Given the description of an element on the screen output the (x, y) to click on. 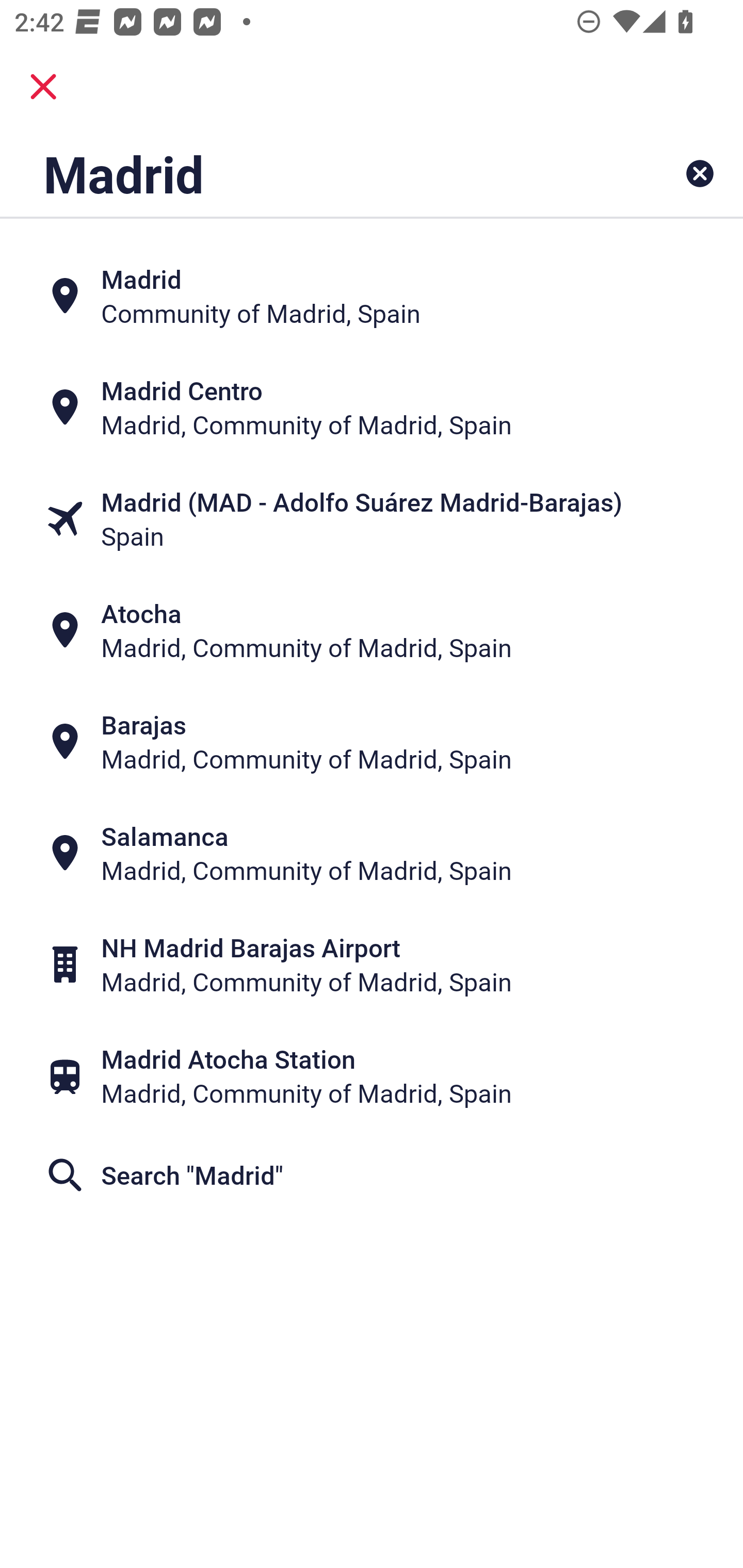
close. (43, 86)
Clear (699, 173)
Madrid (306, 173)
Madrid Community of Madrid, Spain (371, 295)
Madrid Centro Madrid, Community of Madrid, Spain (371, 406)
Madrid (MAD - Adolfo Suárez Madrid-Barajas) Spain (371, 517)
Atocha Madrid, Community of Madrid, Spain (371, 629)
Barajas Madrid, Community of Madrid, Spain (371, 742)
Salamanca Madrid, Community of Madrid, Spain (371, 853)
Search "Madrid" (371, 1175)
